Given the description of an element on the screen output the (x, y) to click on. 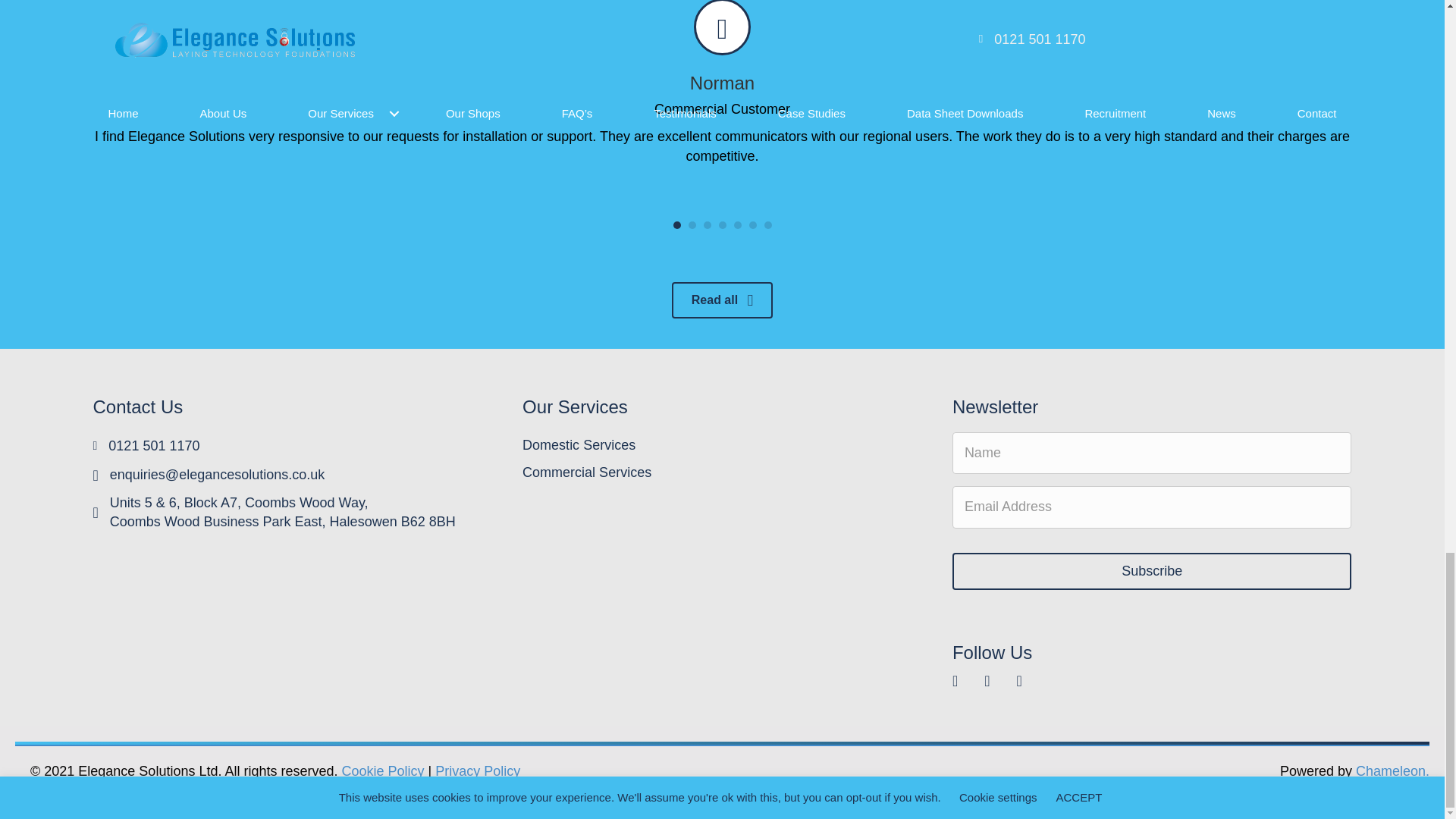
Subscribe (1152, 571)
